Given the description of an element on the screen output the (x, y) to click on. 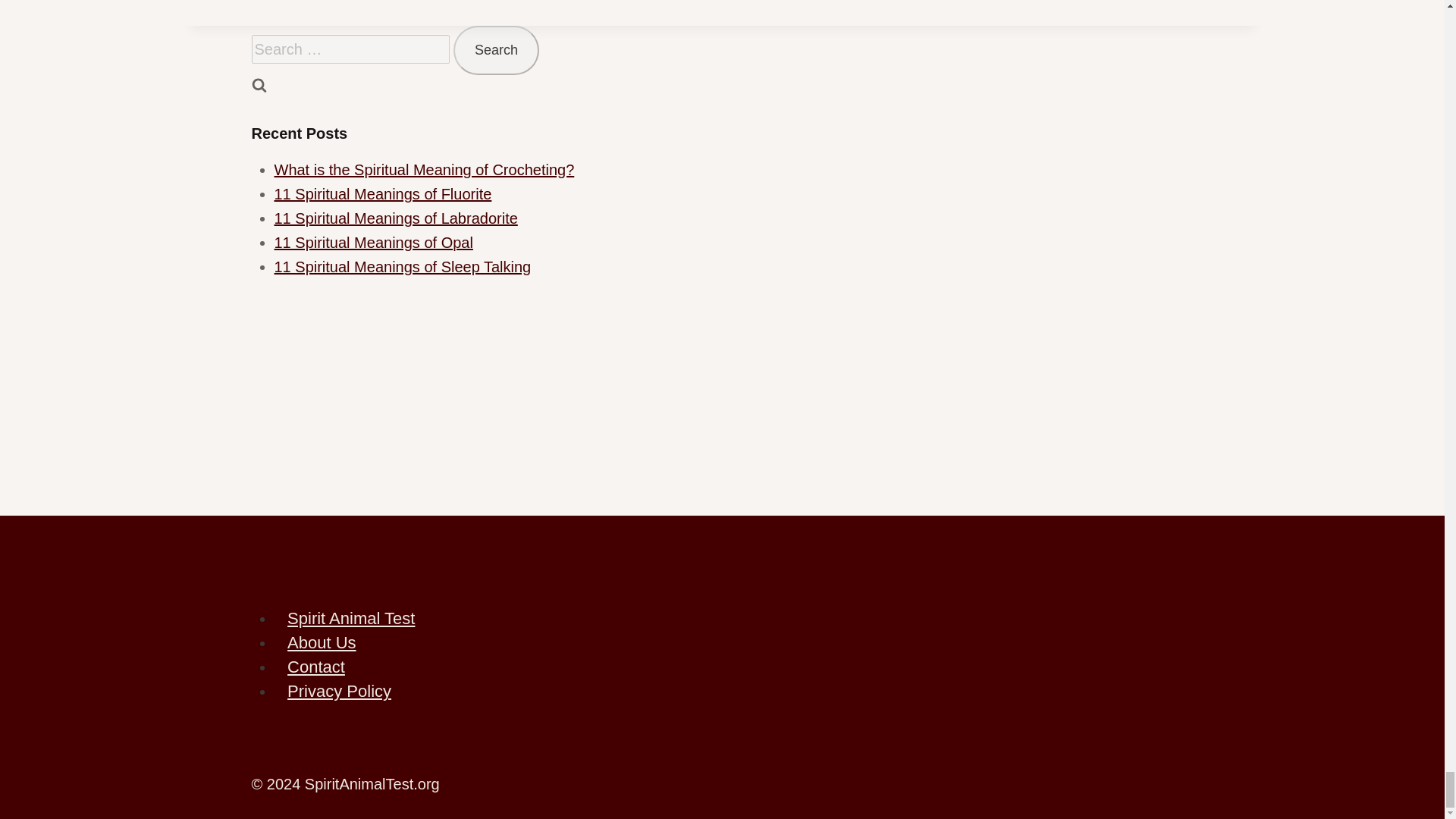
Search (495, 50)
Search (495, 50)
